Given the description of an element on the screen output the (x, y) to click on. 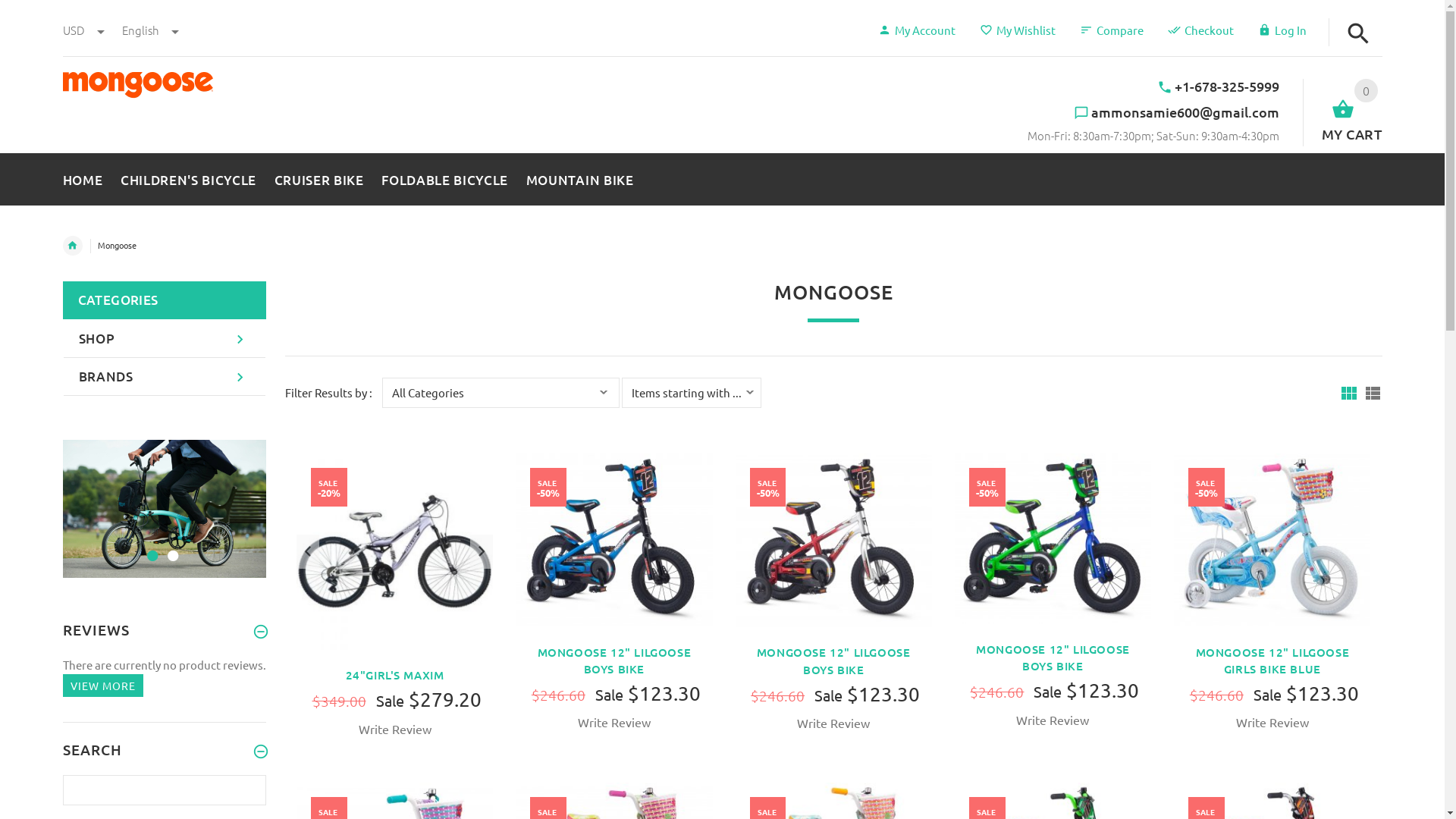
 24"Girl's Maxim  Element type: hover (394, 551)
MONGOOSE 12" LILGOOSE BOYS BIKE Element type: text (833, 660)
1 Element type: text (150, 546)
24"GIRL'S MAXIM Element type: text (394, 674)
USD Element type: text (84, 29)
Mongoose 12 Element type: hover (1052, 536)
 Mongoose 12" Lilgoose Boys Bike  Element type: hover (613, 540)
Mongoose 12 Element type: hover (613, 537)
MONGOOSE 12" LILGOOSE BOYS BIKE Element type: text (614, 660)
 Mongoose 12" Lilgoose Girls Bike Blue  Element type: hover (1271, 540)
English Element type: text (149, 29)
CHILDREN'S BICYCLE Element type: text (188, 176)
 Write Review  Element type: text (833, 722)
24 Element type: hover (394, 549)
 Write Review  Element type: text (394, 728)
My Account Element type: text (916, 29)
 Mongoose 12" Lilgoose Boys Bike  Element type: hover (833, 540)
2 Element type: text (170, 546)
Log In Element type: text (1281, 29)
 Write Review  Element type: text (614, 722)
0
MY CART Element type: text (1342, 111)
BRANDS Element type: text (164, 376)
MONGOOSE 12" LILGOOSE GIRLS BIKE BLUE Element type: text (1272, 660)
My Wishlist Element type: text (1017, 29)
FOLDABLE BICYCLE Element type: text (445, 176)
CRUISER BIKE Element type: text (319, 176)
Mongoose 12 Element type: hover (1271, 537)
MONGOOSE 12" LILGOOSE BOYS BIKE Element type: text (1052, 657)
List Element type: hover (1372, 392)
Mongoose 12 Element type: hover (833, 537)
MOUNTAIN BIKE Element type: text (575, 176)
 Mongoose 12" Lilgoose Boys Bike  Element type: hover (1052, 538)
 Write Review  Element type: text (1272, 722)
Checkout Element type: text (1200, 29)
HOME Element type: text (86, 176)
VIEW MORE Element type: text (102, 685)
SHOP Element type: text (164, 338)
Compare Element type: text (1111, 29)
Grid Element type: hover (1347, 392)
 Write Review  Element type: text (1052, 719)
Home Element type: text (71, 245)
